Given the description of an element on the screen output the (x, y) to click on. 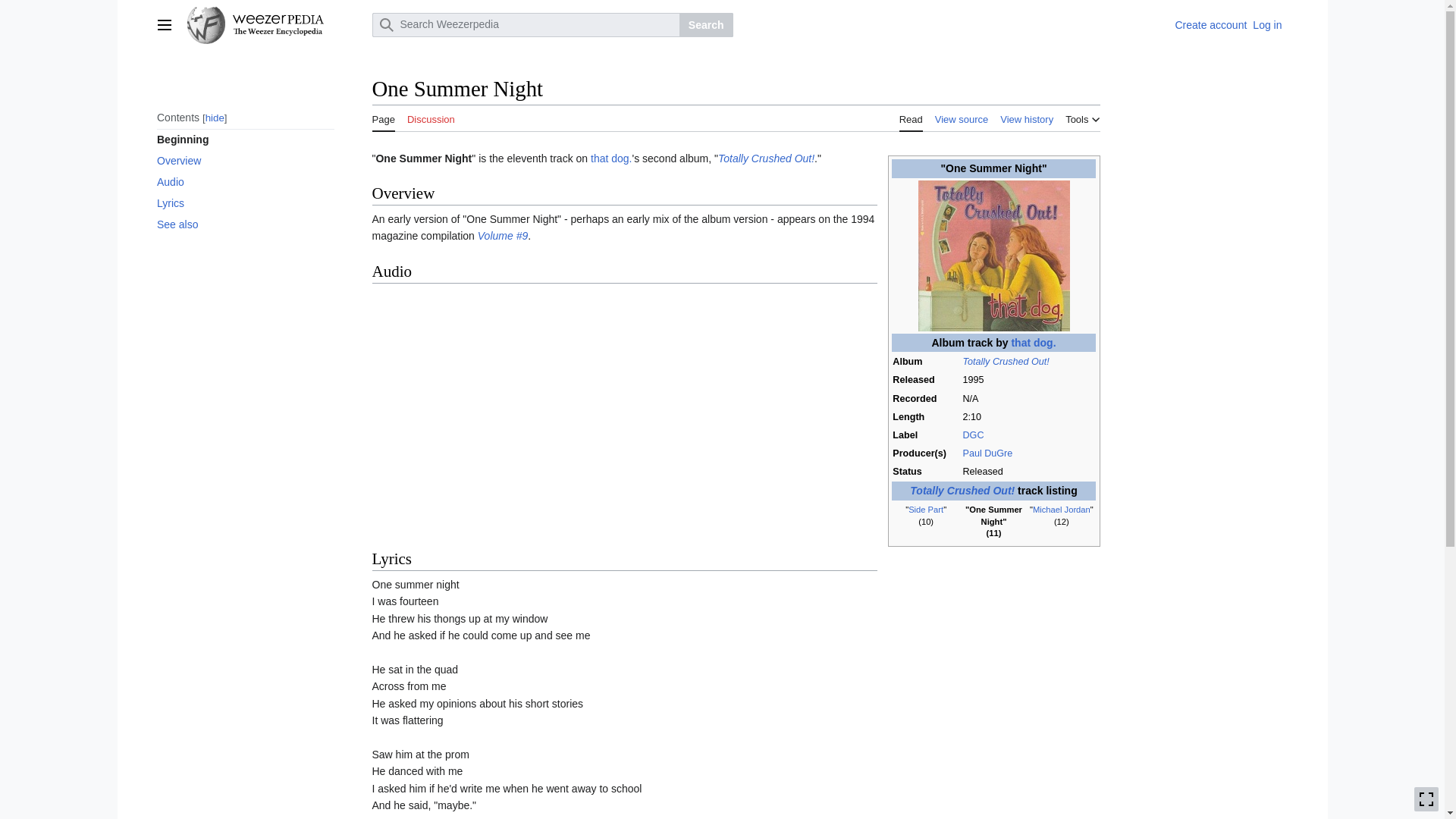
Lyrics (244, 202)
Search (706, 24)
Create account (1210, 24)
Discussion (430, 117)
Audio (244, 181)
Beginning (244, 138)
View history (1026, 117)
Log in (1266, 24)
hide (214, 117)
